Given the description of an element on the screen output the (x, y) to click on. 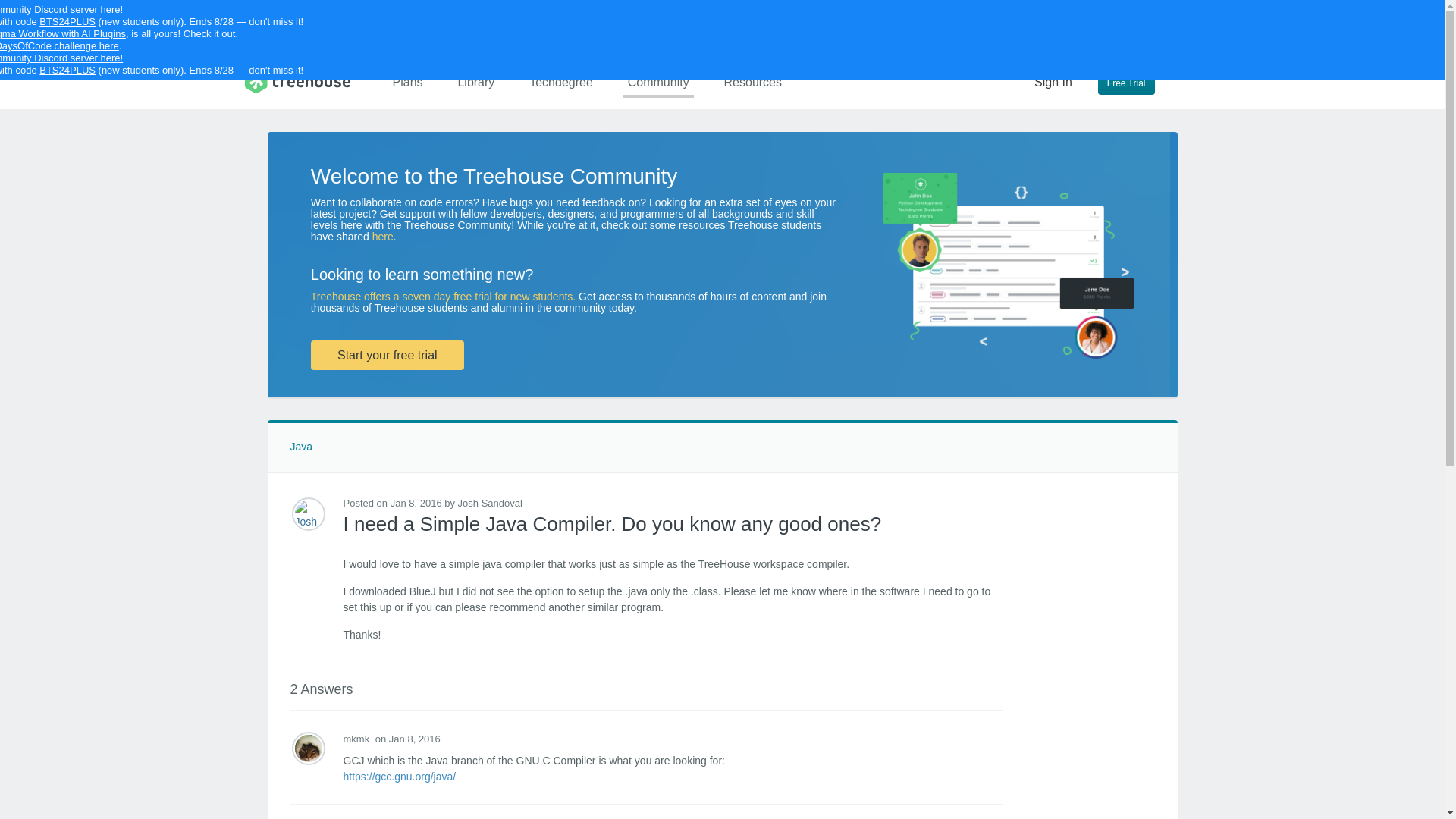
Library (475, 82)
Join our free community Discord server here! (61, 9)
January 8, 2016 at 2:51am  (408, 738)
Treehouse Logo (296, 80)
BTS24PLUS (67, 21)
January 8, 2016 at 2:47am  (409, 502)
Plans (408, 82)
Join our free community Discord server here! (61, 57)
Treehouse Logo (296, 80)
BTS24PLUS (67, 70)
